Given the description of an element on the screen output the (x, y) to click on. 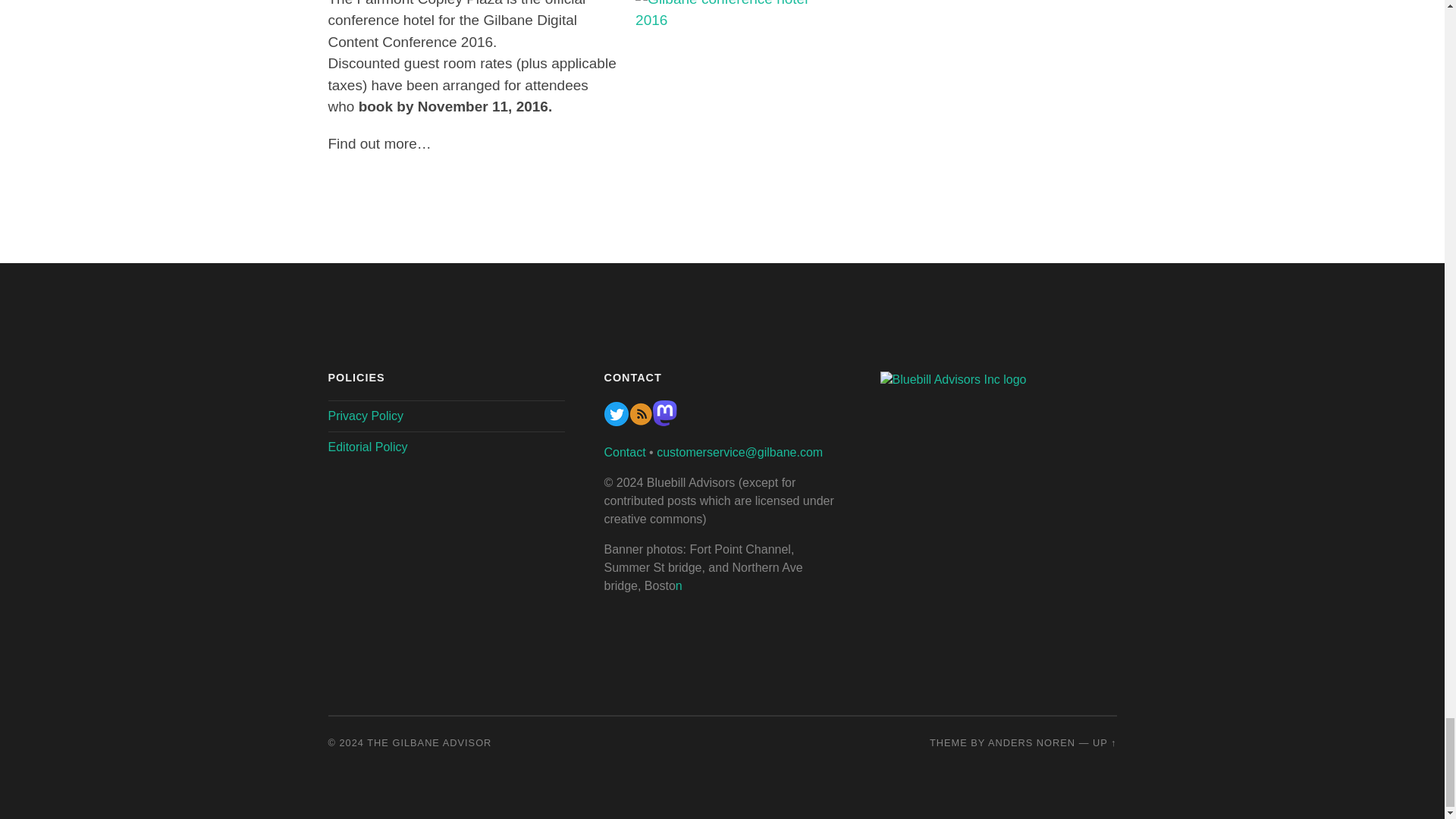
To the top (1104, 742)
Gilbane twitter feed (615, 421)
Mastadon-logo-purple-32x34 (664, 421)
